Given the description of an element on the screen output the (x, y) to click on. 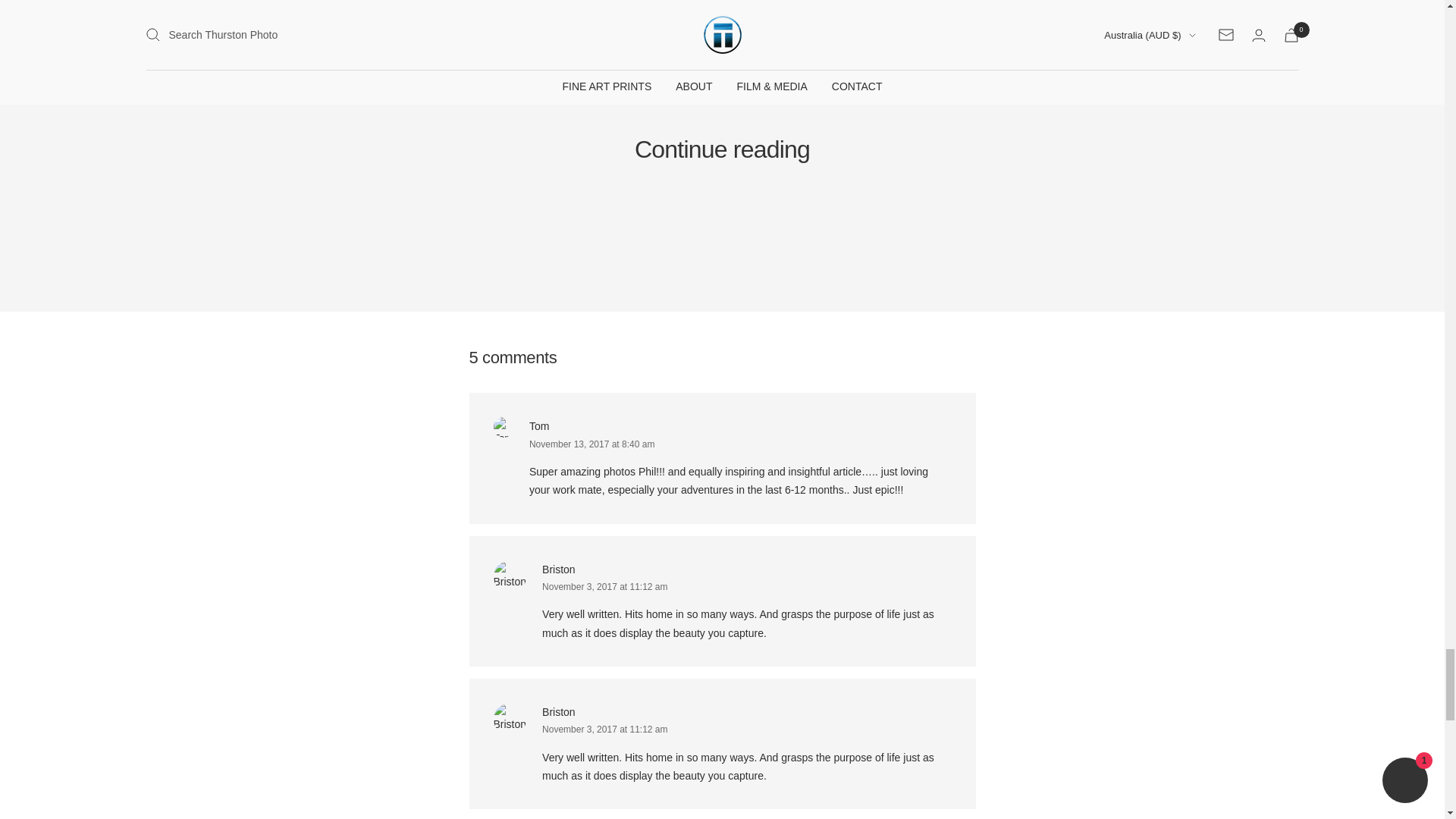
Cressi scuba and dive gear (613, 10)
